Given the description of an element on the screen output the (x, y) to click on. 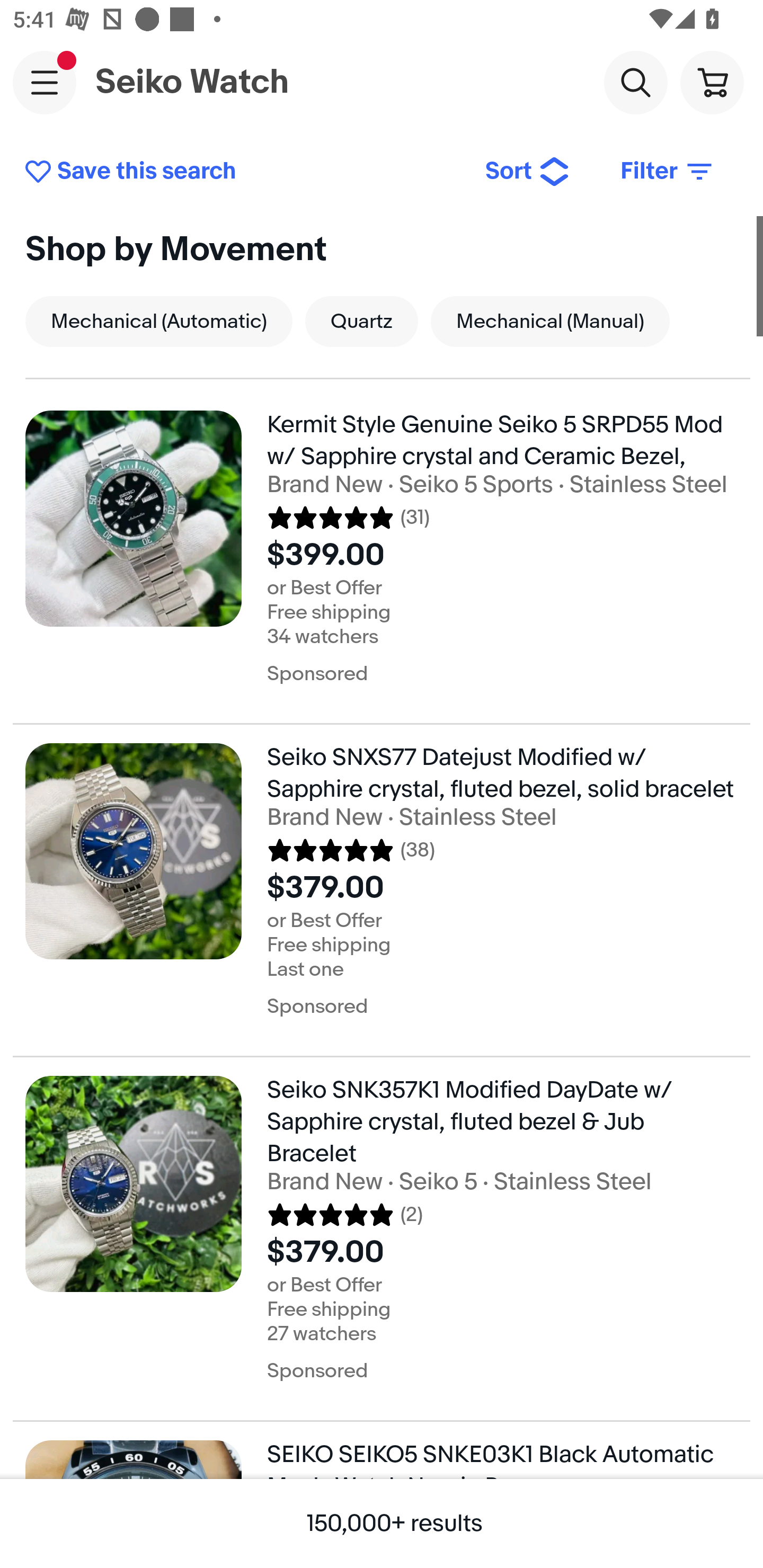
Main navigation, notification is pending, open (44, 82)
Search (635, 81)
Cart button shopping cart (711, 81)
Save this search (241, 171)
Sort (527, 171)
Filter (667, 171)
Quartz Quartz, Movement (361, 321)
Mechanical (Manual) Mechanical (Manual), Movement (550, 321)
